Given the description of an element on the screen output the (x, y) to click on. 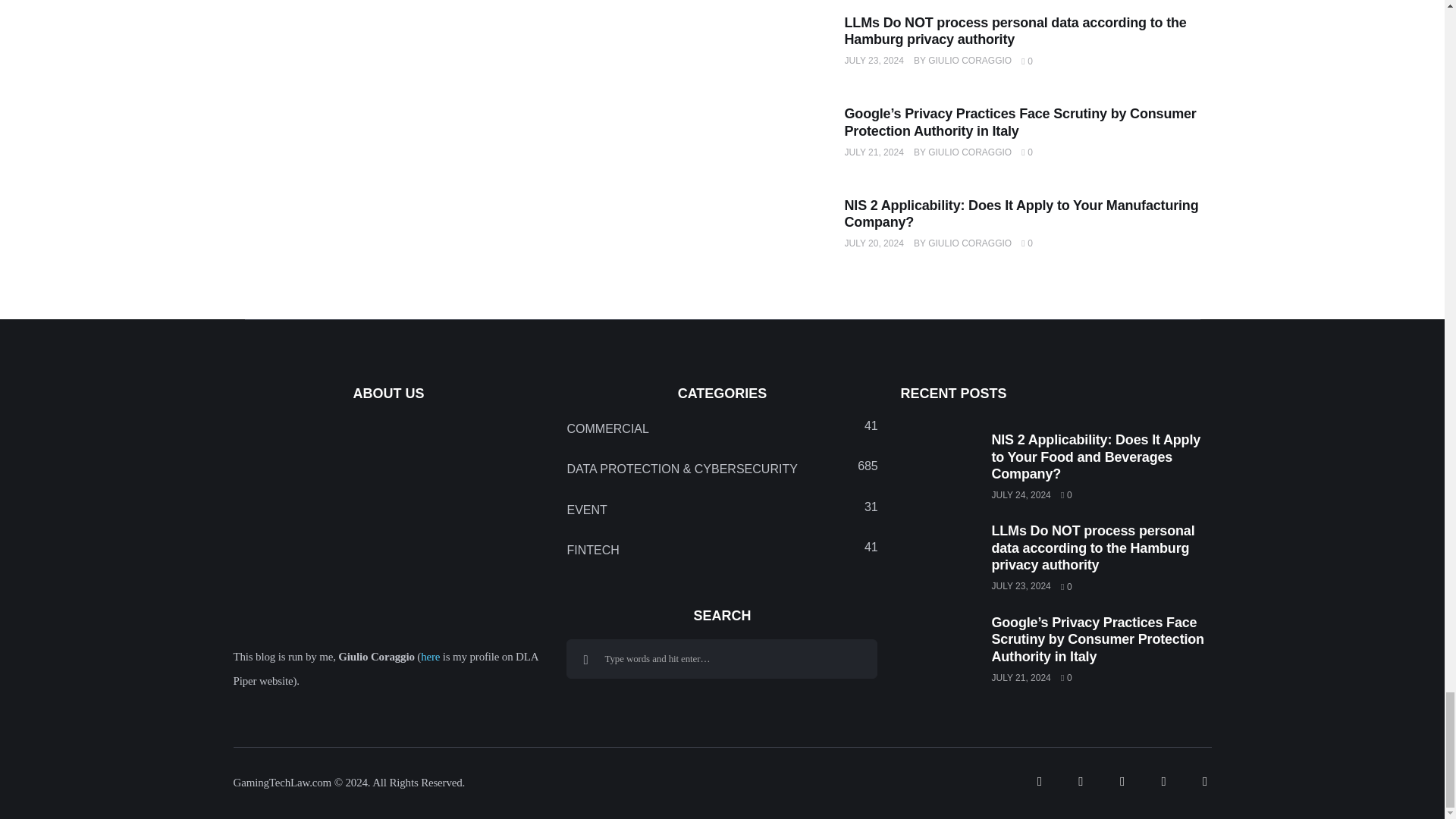
Search (585, 658)
Search (585, 658)
